Given the description of an element on the screen output the (x, y) to click on. 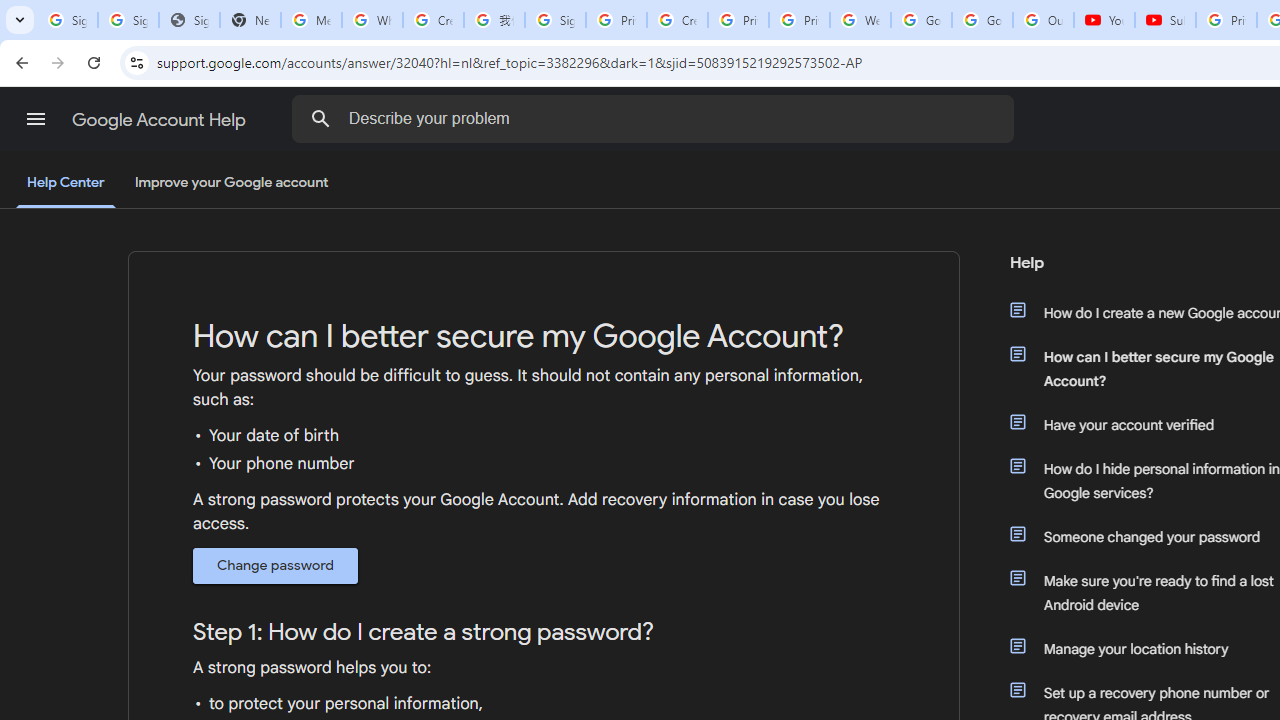
Change password (275, 565)
Google Account Help (160, 119)
YouTube (1104, 20)
Sign In - USA TODAY (189, 20)
Sign in - Google Accounts (128, 20)
New Tab (250, 20)
Who is my administrator? - Google Account Help (372, 20)
